Given the description of an element on the screen output the (x, y) to click on. 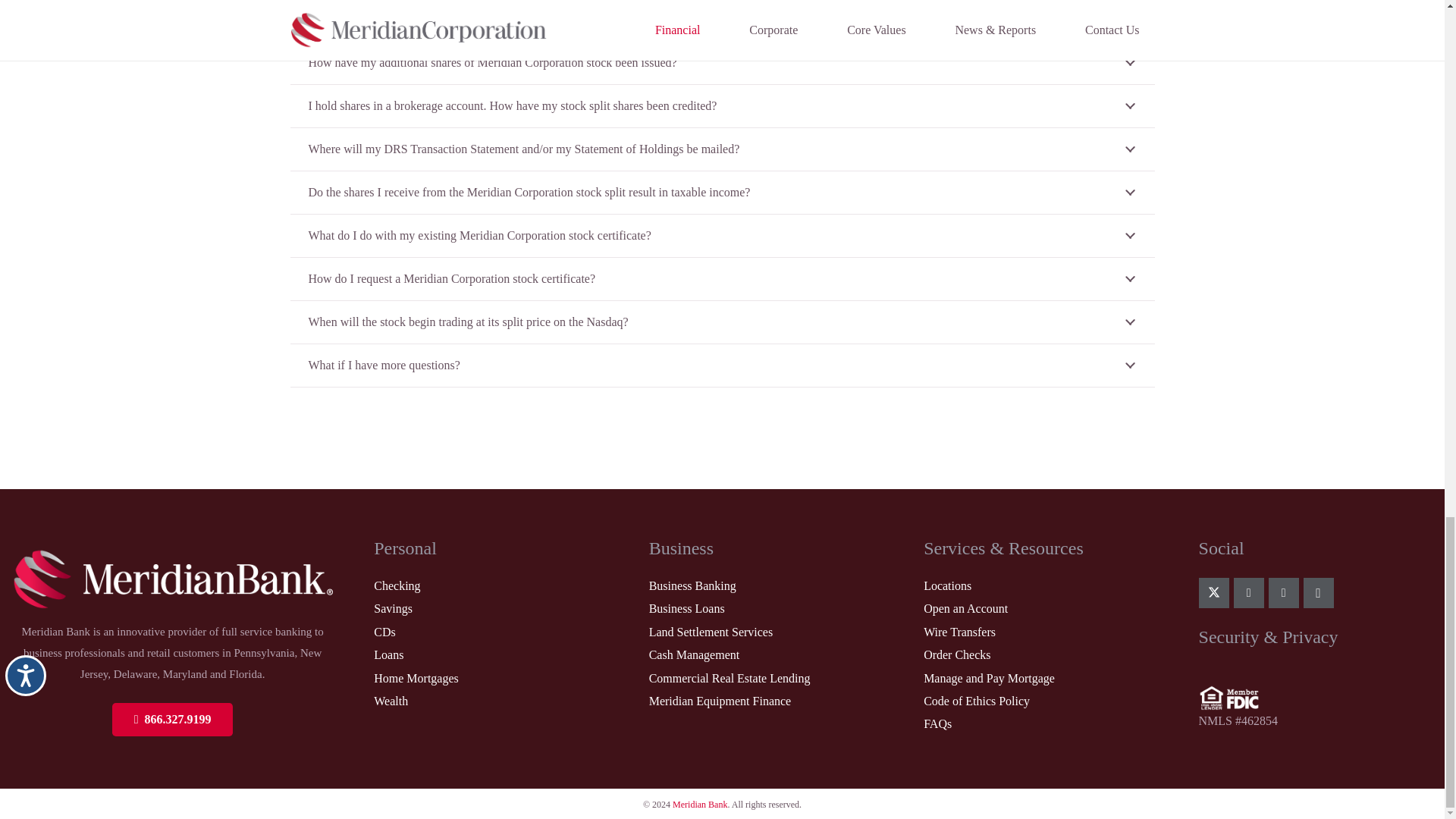
Facebook (1283, 593)
What if I have more questions? (721, 364)
Twitter (1213, 593)
Instagram (1318, 593)
How do I request a Meridian Corporation stock certificate? (721, 278)
866.327.9199 (172, 719)
